Given the description of an element on the screen output the (x, y) to click on. 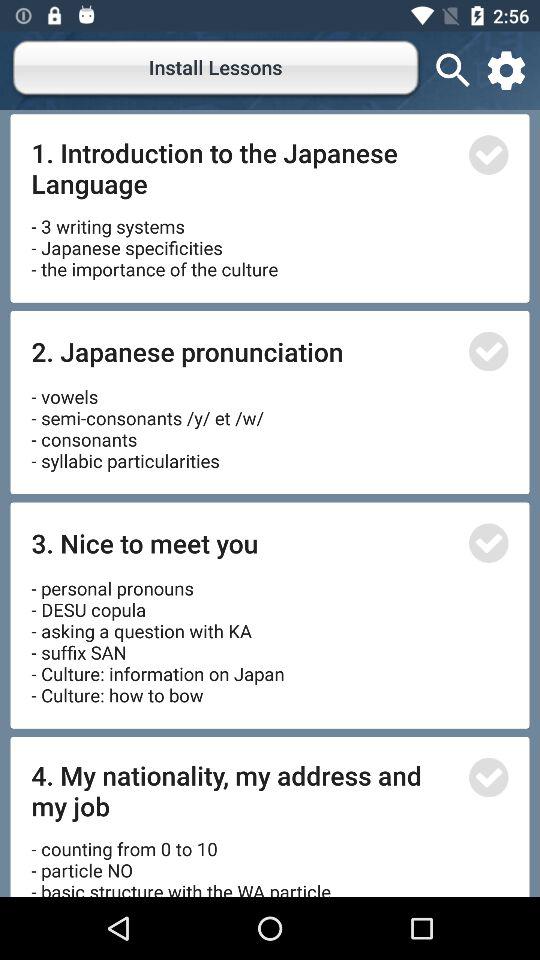
select article (488, 542)
